Given the description of an element on the screen output the (x, y) to click on. 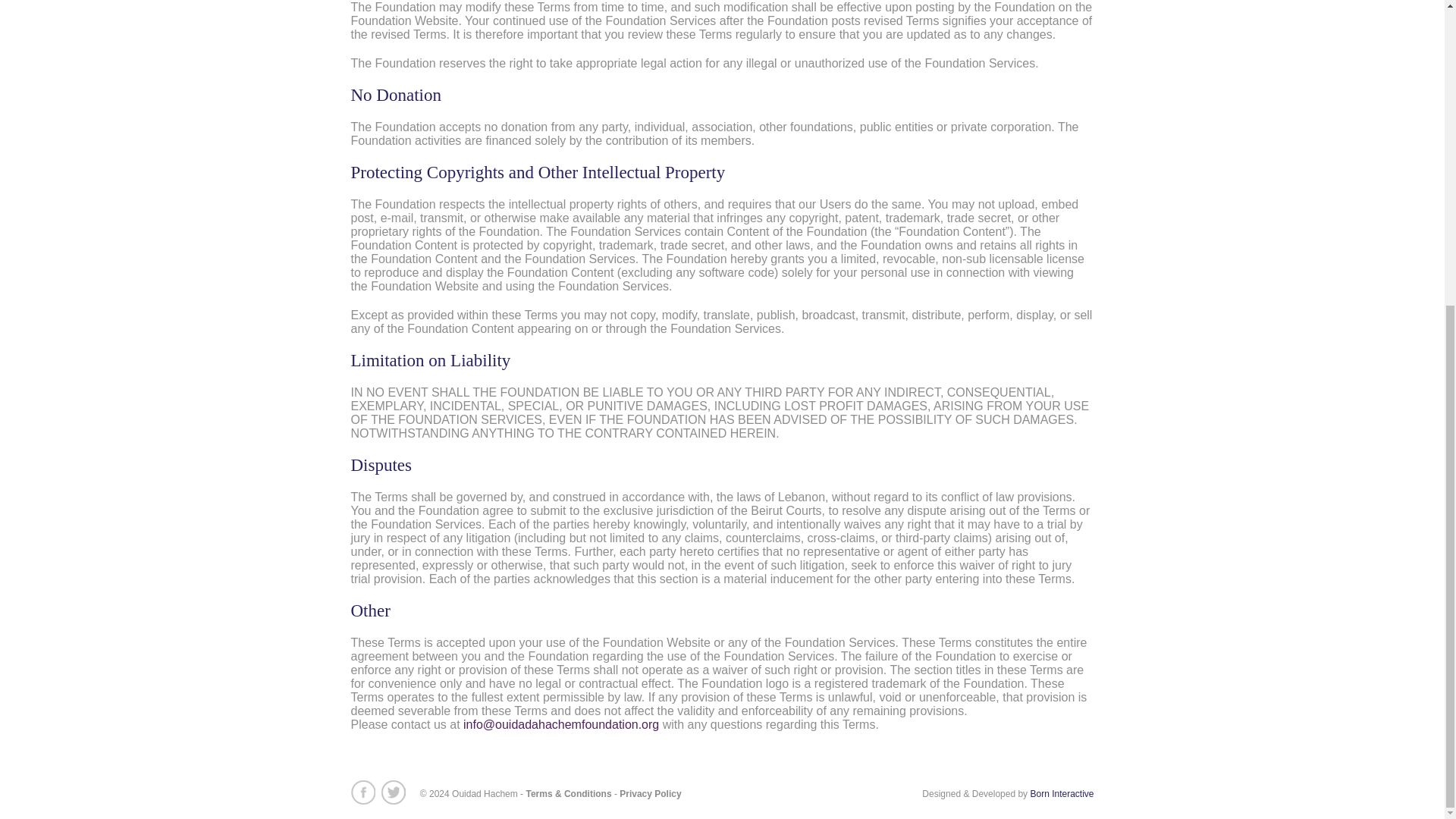
Privacy Policy (650, 792)
Born Interactive (1061, 792)
